Given the description of an element on the screen output the (x, y) to click on. 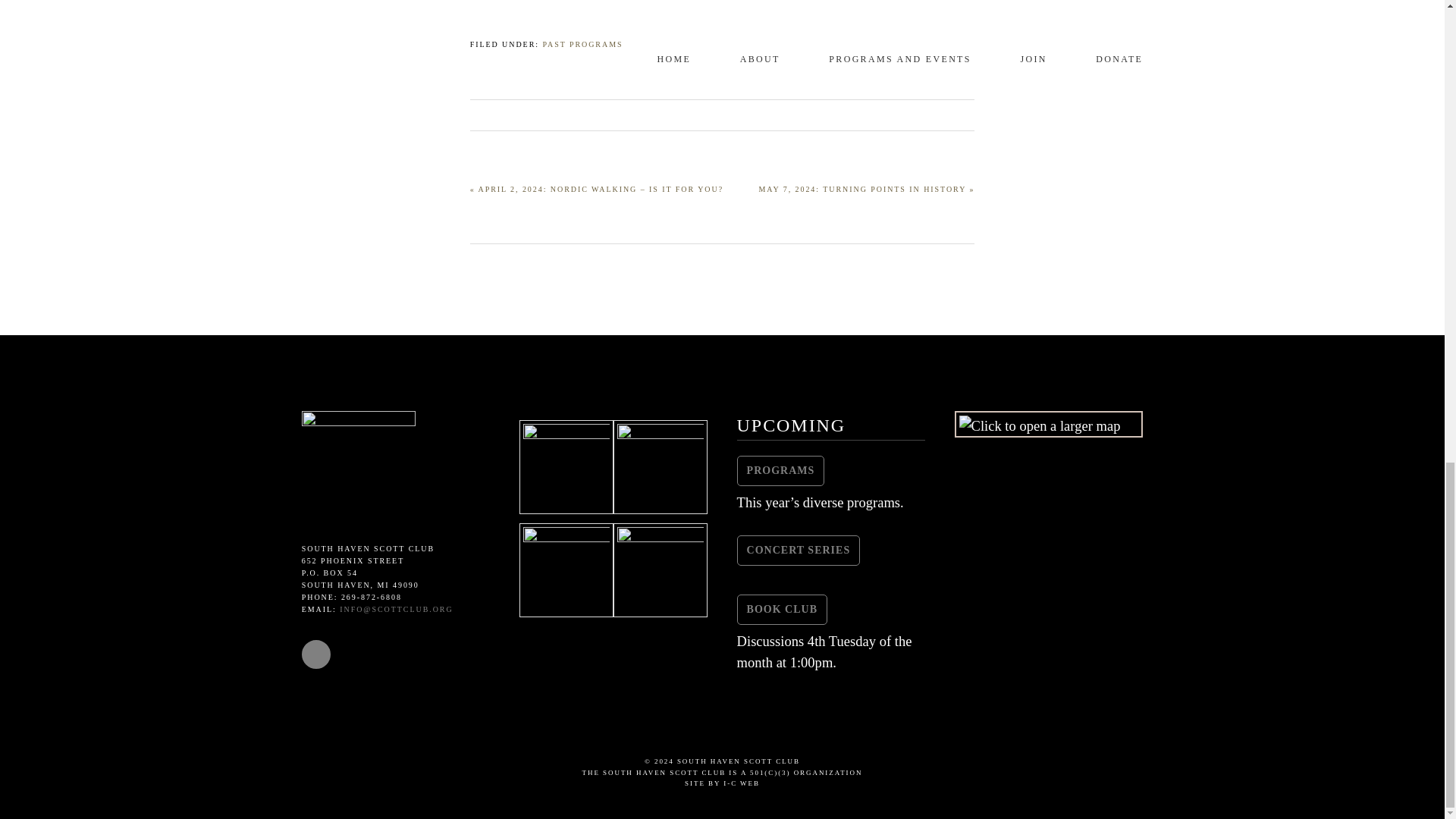
Click to open a larger map (1040, 425)
PROGRAMS (780, 470)
I-C WEB (741, 783)
i-Cweb (741, 783)
CONCERT SERIES (798, 550)
PAST PROGRAMS (582, 44)
BOOK CLUB (781, 609)
